Given the description of an element on the screen output the (x, y) to click on. 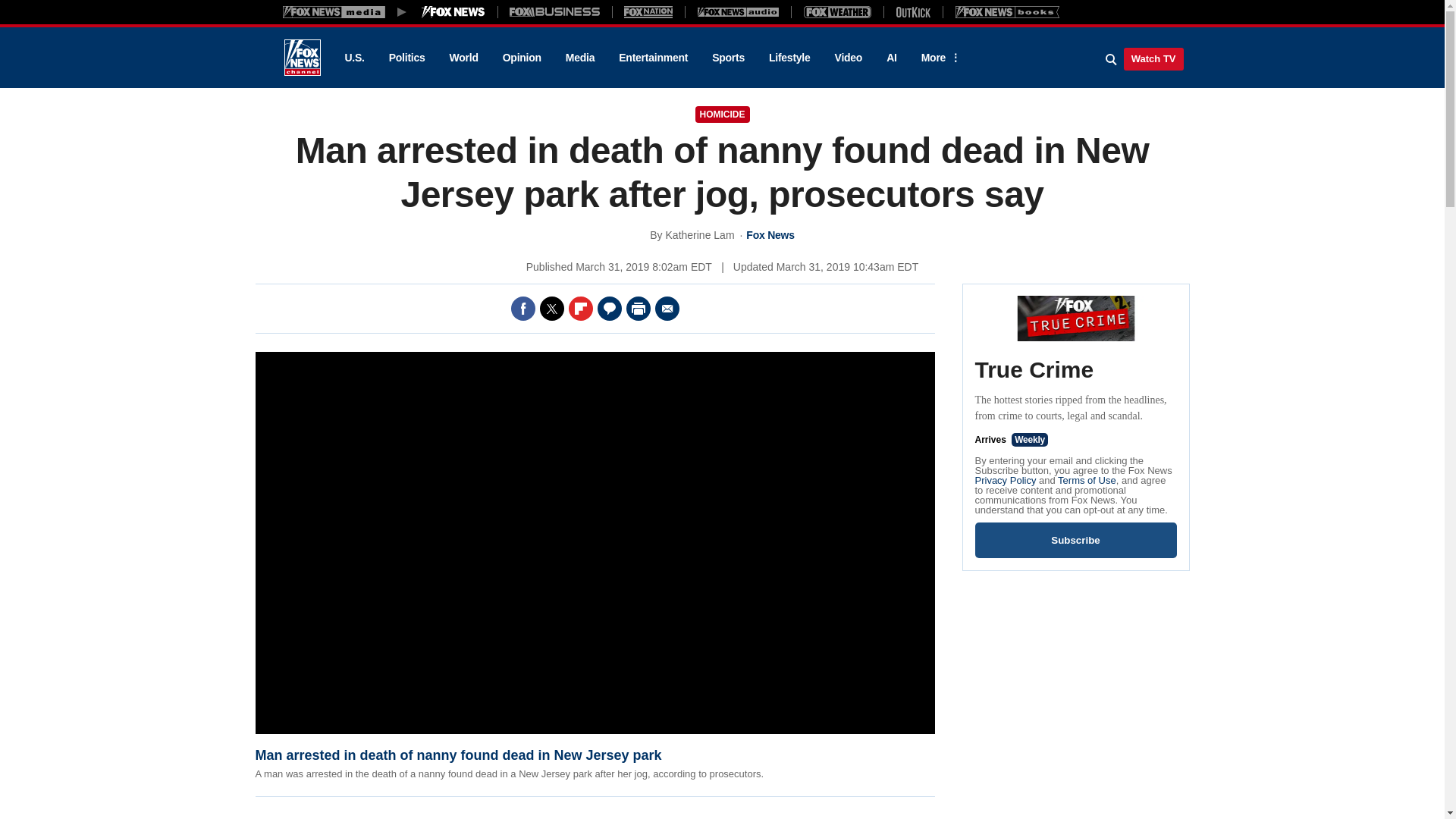
Politics (407, 57)
Watch TV (1153, 58)
Books (1007, 11)
AI (891, 57)
Outkick (912, 11)
Fox News Media (453, 11)
Media (580, 57)
Video (848, 57)
Fox News (301, 57)
Fox Weather (836, 11)
Entertainment (653, 57)
More (938, 57)
Fox News Audio (737, 11)
Sports (728, 57)
Fox Business (554, 11)
